Given the description of an element on the screen output the (x, y) to click on. 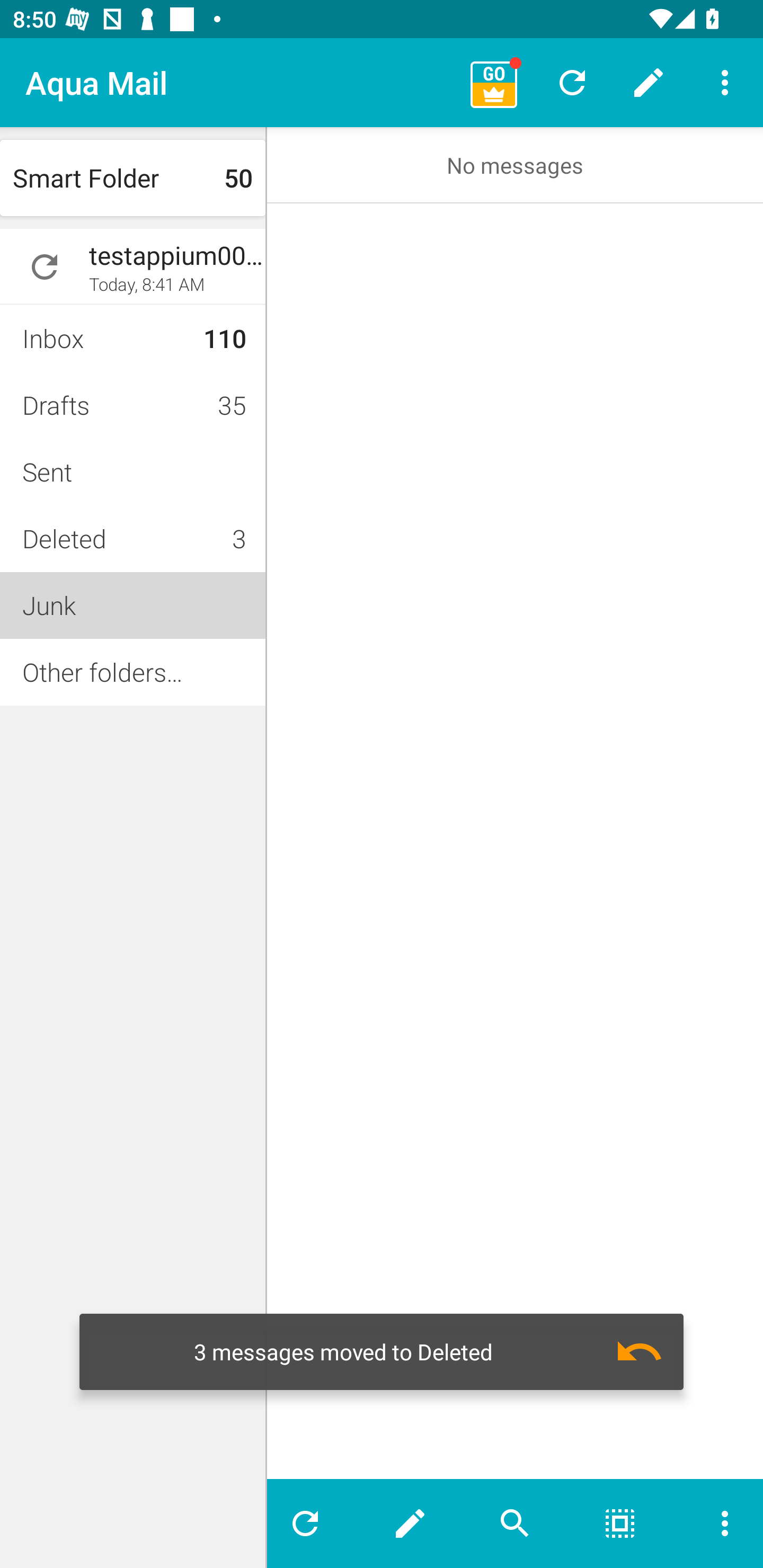
Refresh all (572, 82)
New message (648, 82)
More options (724, 81)
Smart Folder 50 50 unread, 50 total messages (132, 177)
No messages (515, 165)
Refresh account (44, 266)
Sent Folder: Sent 24 total messages (132, 471)
Deleted Folder: Deleted 3 3 total messages (132, 538)
Junk Folder: Junk 0 total messages (132, 605)
Other folders… (132, 671)
Undo 3 messages moved to Deleted (381, 1351)
Refresh (312, 1523)
New message (409, 1523)
Search (514, 1523)
Select all (619, 1523)
More options (717, 1522)
